Given the description of an element on the screen output the (x, y) to click on. 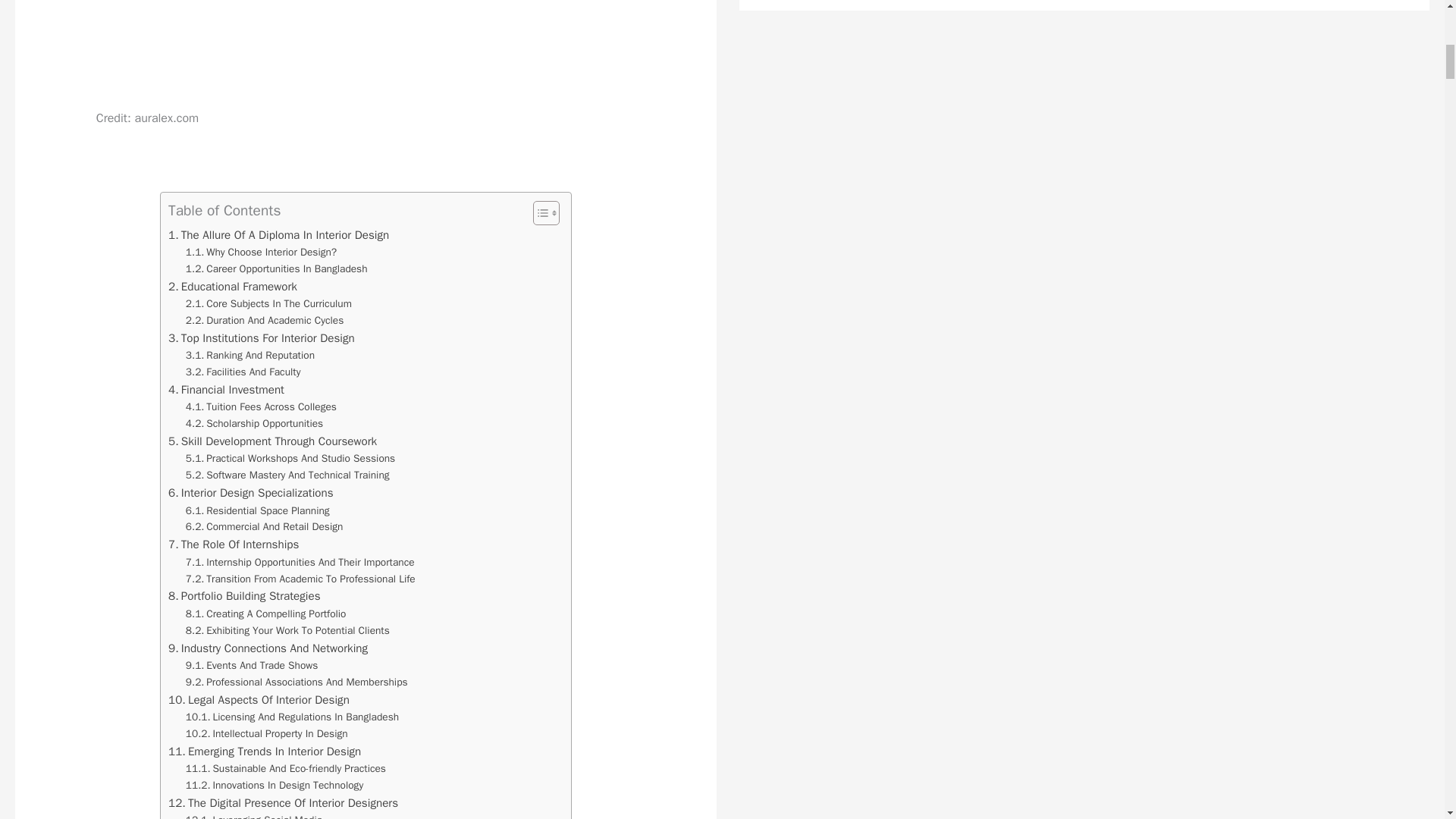
Top Institutions For Interior Design (261, 338)
Industry Connections And Networking (268, 647)
Skill Development Through Coursework (272, 441)
Internship Opportunities And Their Importance (300, 562)
Ranking And Reputation (250, 355)
Financial Investment (225, 389)
Duration And Academic Cycles (264, 320)
Transition From Academic To Professional Life (300, 579)
Core Subjects In The Curriculum (269, 303)
The Allure Of A Diploma In Interior Design (278, 235)
Portfolio Building Strategies (244, 596)
Facilities And Faculty (243, 371)
Career Opportunities In Bangladesh (277, 269)
Core Subjects In The Curriculum (269, 303)
Duration And Academic Cycles (264, 320)
